Given the description of an element on the screen output the (x, y) to click on. 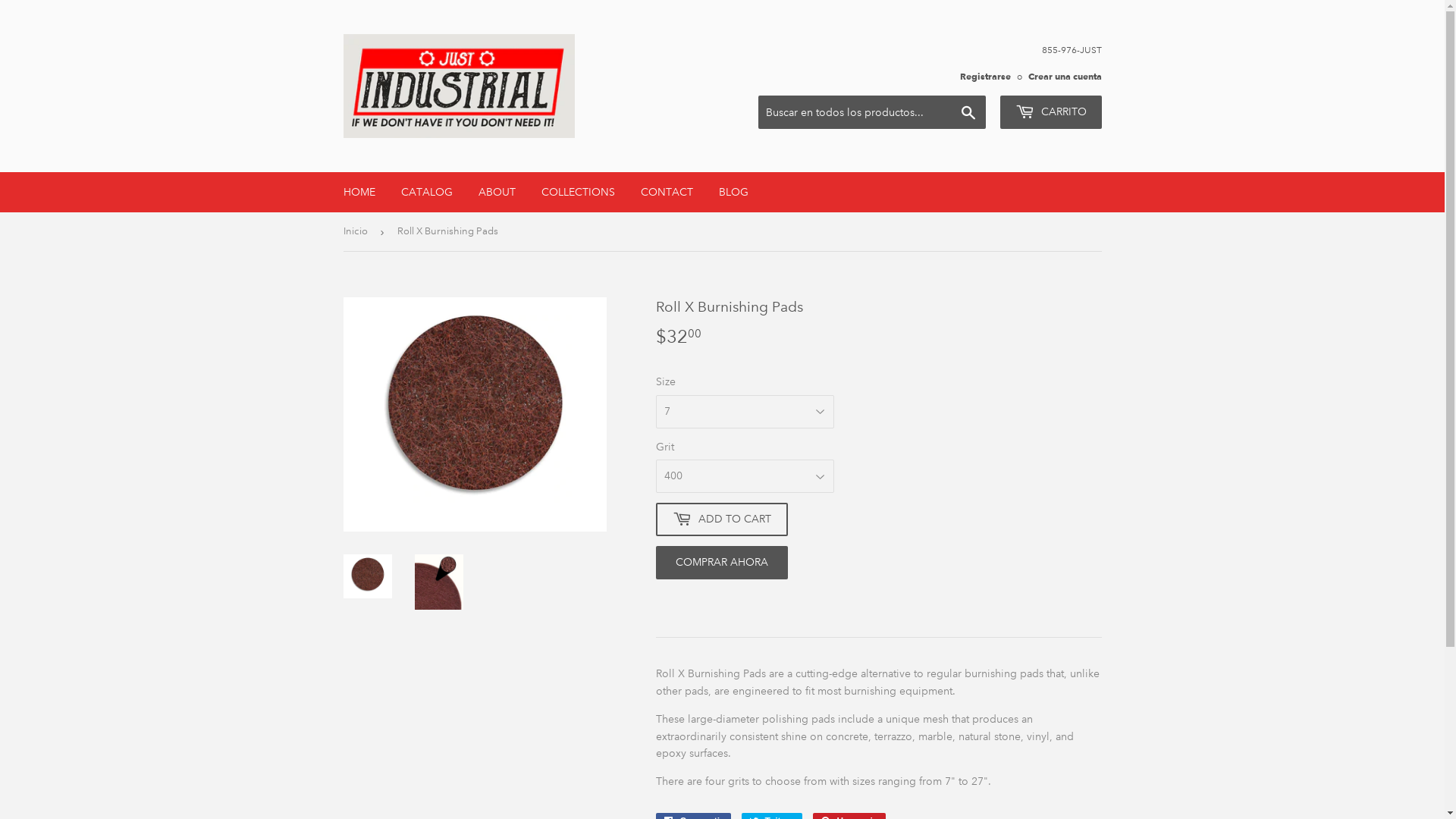
CARRITO Element type: text (1050, 111)
Inicio Element type: text (357, 231)
Crear una cuenta Element type: text (1064, 75)
BLOG Element type: text (732, 191)
ADD TO CART Element type: text (721, 519)
CATALOG Element type: text (426, 191)
COMPRAR AHORA Element type: text (721, 562)
HOME Element type: text (359, 191)
CONTACT Element type: text (666, 191)
Buscar Element type: text (967, 112)
Registrarse Element type: text (985, 75)
ABOUT Element type: text (497, 191)
COLLECTIONS Element type: text (577, 191)
